Given the description of an element on the screen output the (x, y) to click on. 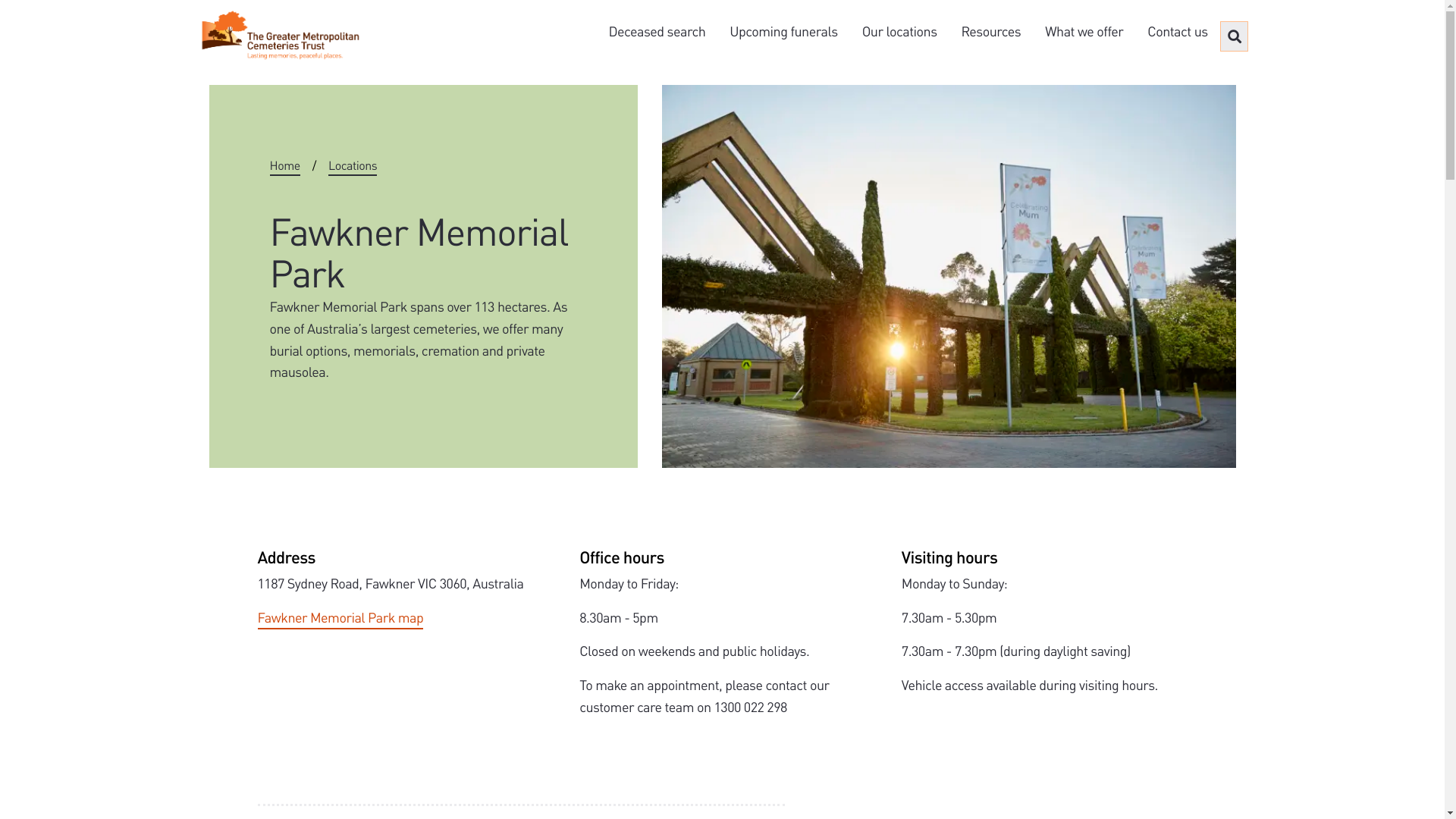
Contact us Element type: text (1177, 32)
Deceased search Element type: text (656, 32)
Fawkner Memorial Park map Element type: text (340, 618)
Locations Element type: text (352, 165)
What we offer Element type: text (1083, 32)
Resources Element type: text (991, 32)
Upcoming funerals Element type: text (783, 32)
Home Element type: text (284, 165)
Our locations Element type: text (899, 32)
